Given the description of an element on the screen output the (x, y) to click on. 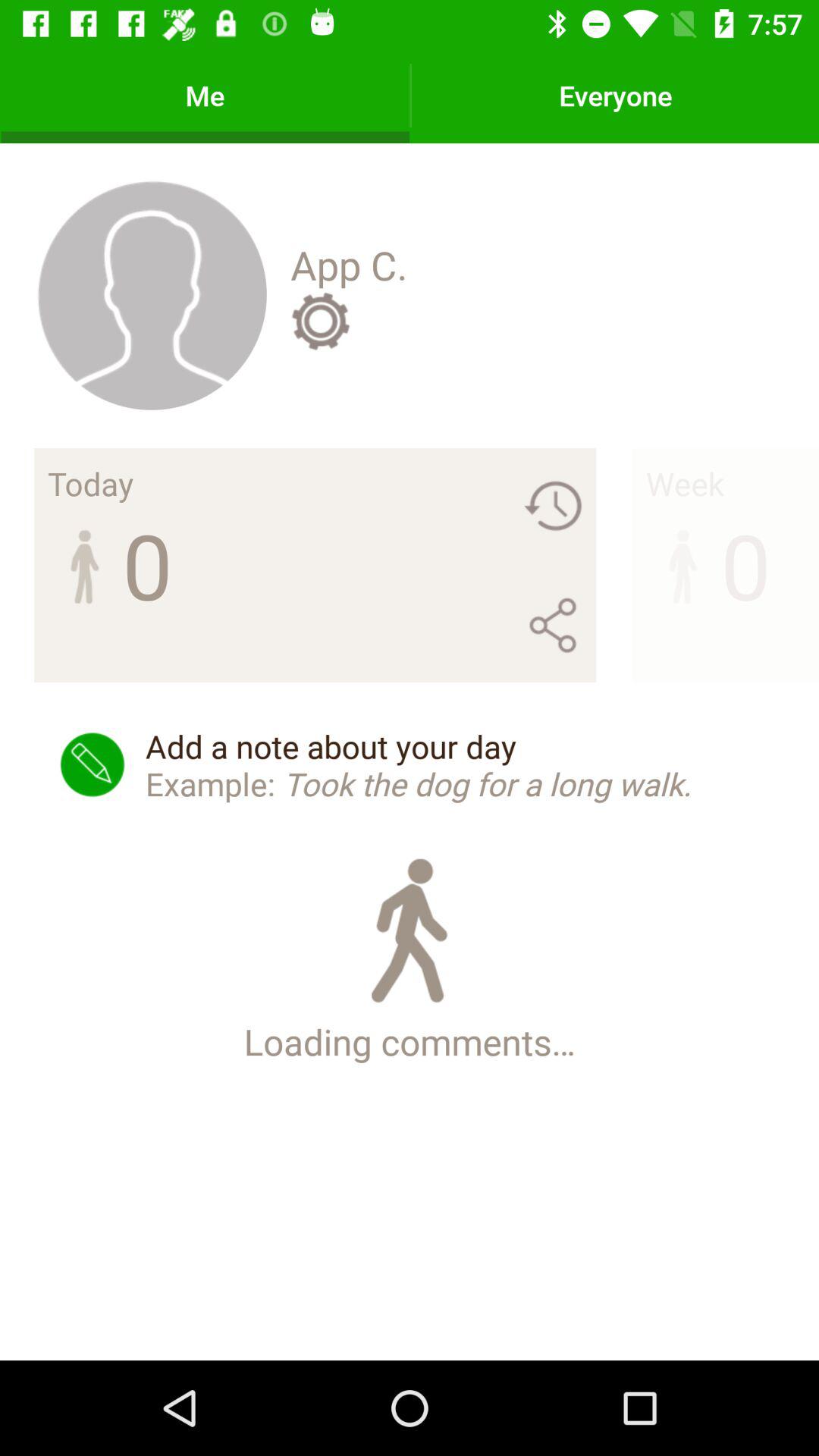
jump to add a note icon (409, 764)
